Given the description of an element on the screen output the (x, y) to click on. 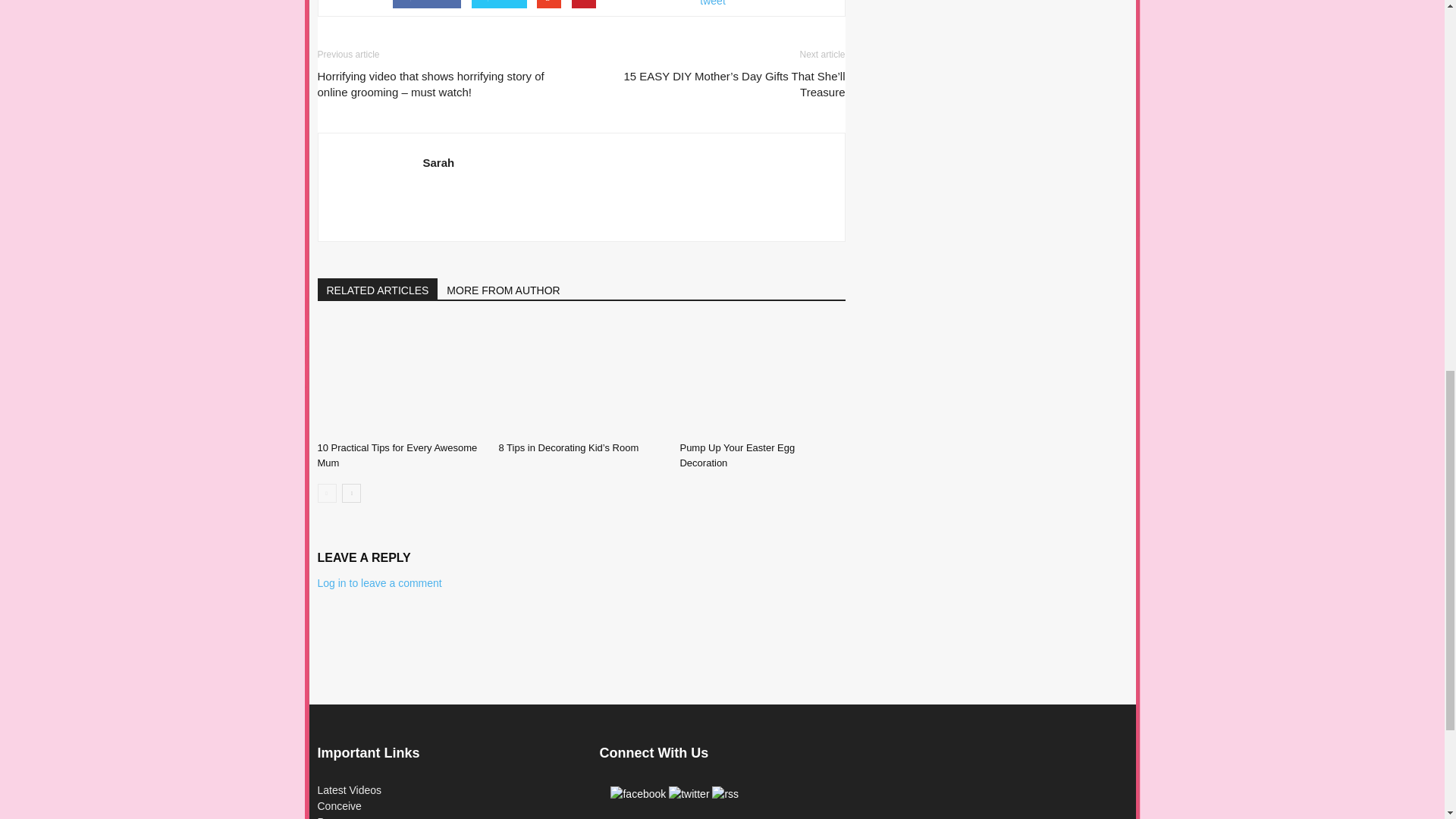
10 Practical Tips for Every Awesome Mum (399, 377)
